Given the description of an element on the screen output the (x, y) to click on. 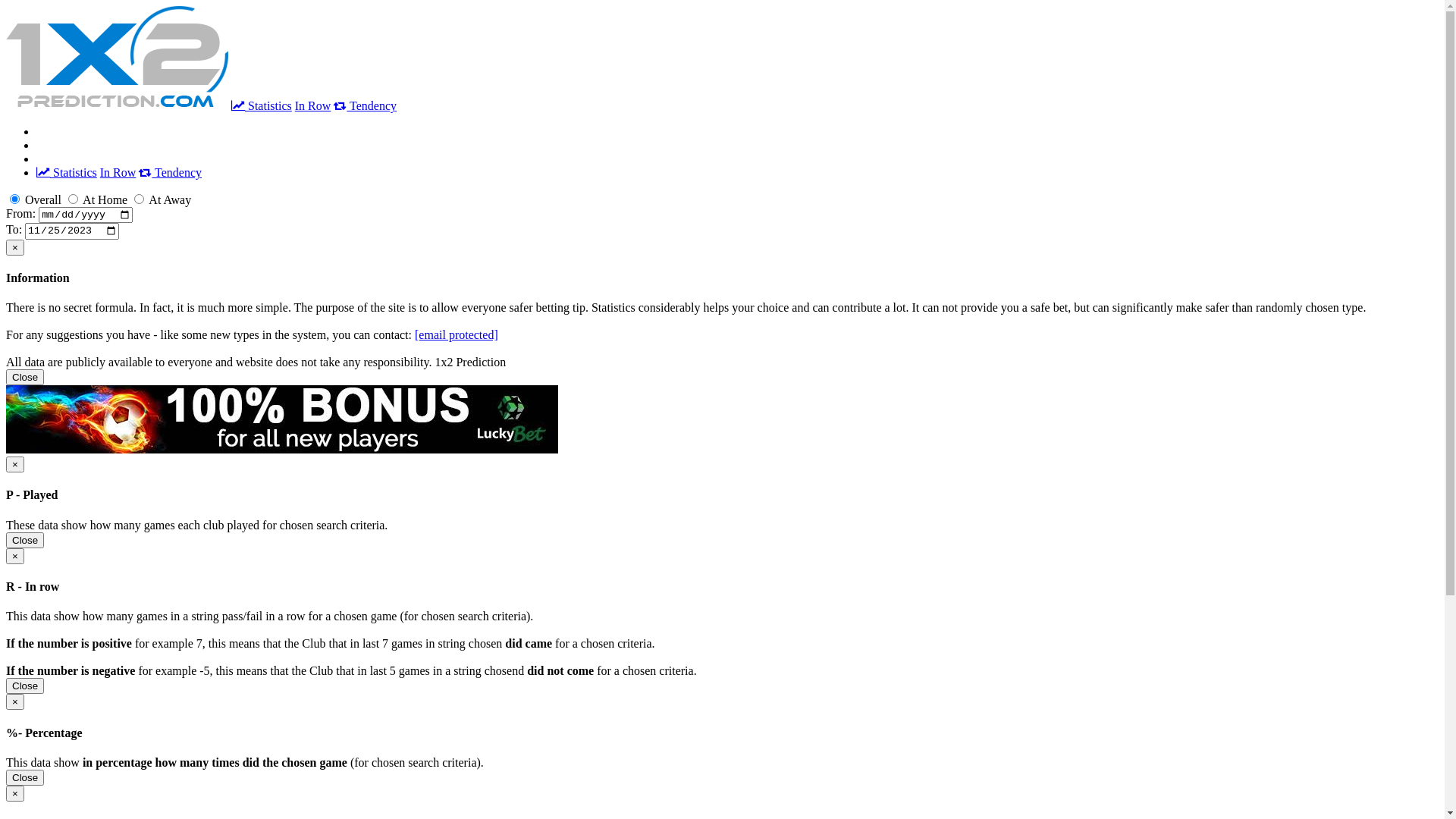
Close Element type: text (24, 377)
Lucky Bet Element type: hover (282, 419)
Lucky Bet Element type: hover (282, 448)
[email protected] Element type: text (456, 334)
Tendency Element type: text (169, 172)
Close Element type: text (24, 777)
Statistics Element type: text (261, 105)
Close Element type: text (24, 685)
Tendency Element type: text (364, 105)
Close Element type: text (24, 540)
In Row Element type: text (312, 105)
Statistics Element type: text (66, 172)
In Row Element type: text (118, 172)
